Given the description of an element on the screen output the (x, y) to click on. 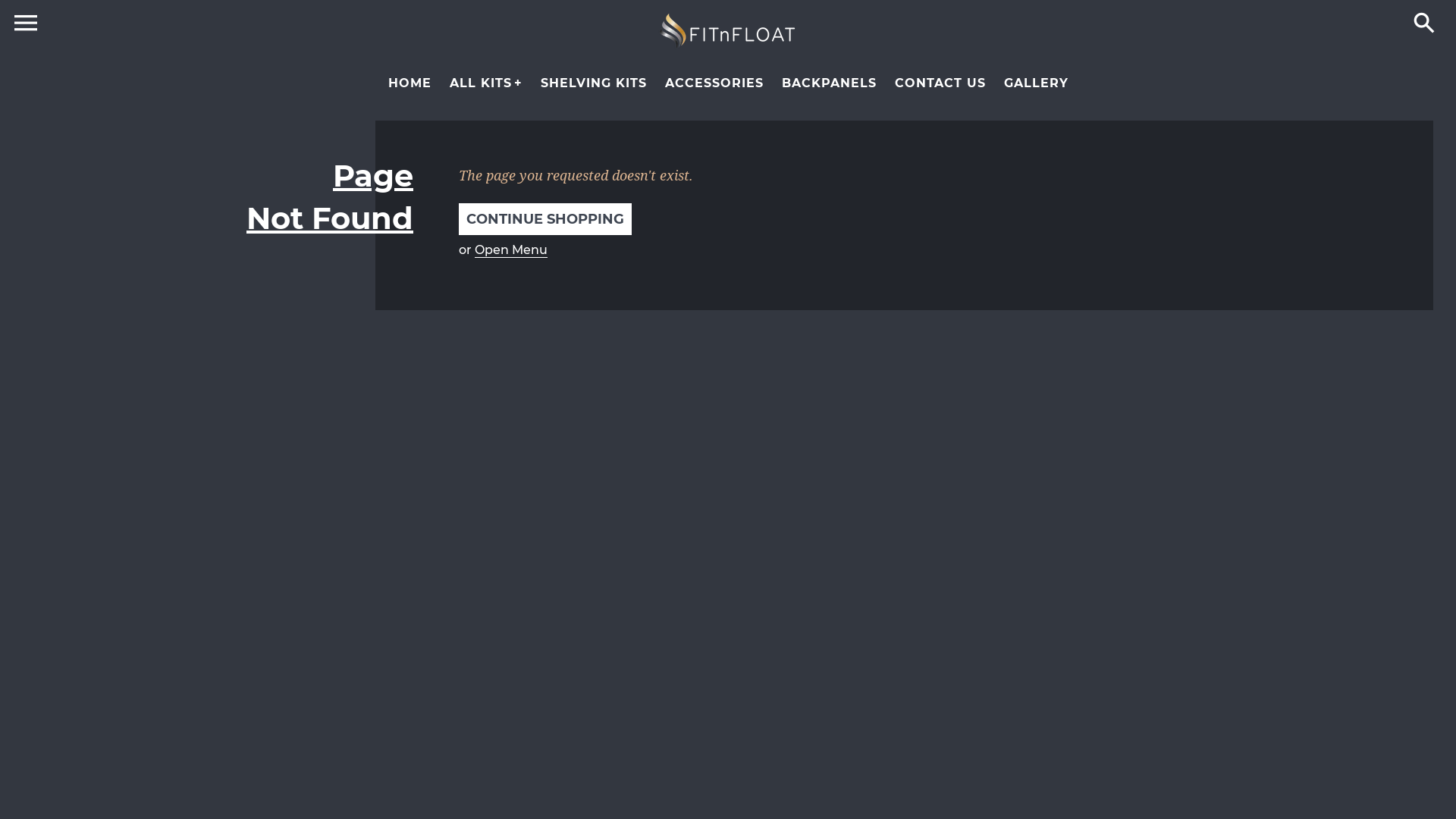
CONTACT US Element type: text (940, 83)
CONTINUE SHOPPING Element type: text (544, 219)
ACCESSORIES Element type: text (713, 83)
BACKPANELS Element type: text (828, 83)
GALLERY Element type: text (1036, 83)
HOME Element type: text (409, 83)
ALL KITS Element type: text (485, 83)
Open Menu Element type: text (510, 249)
SHELVING KITS Element type: text (592, 83)
